Given the description of an element on the screen output the (x, y) to click on. 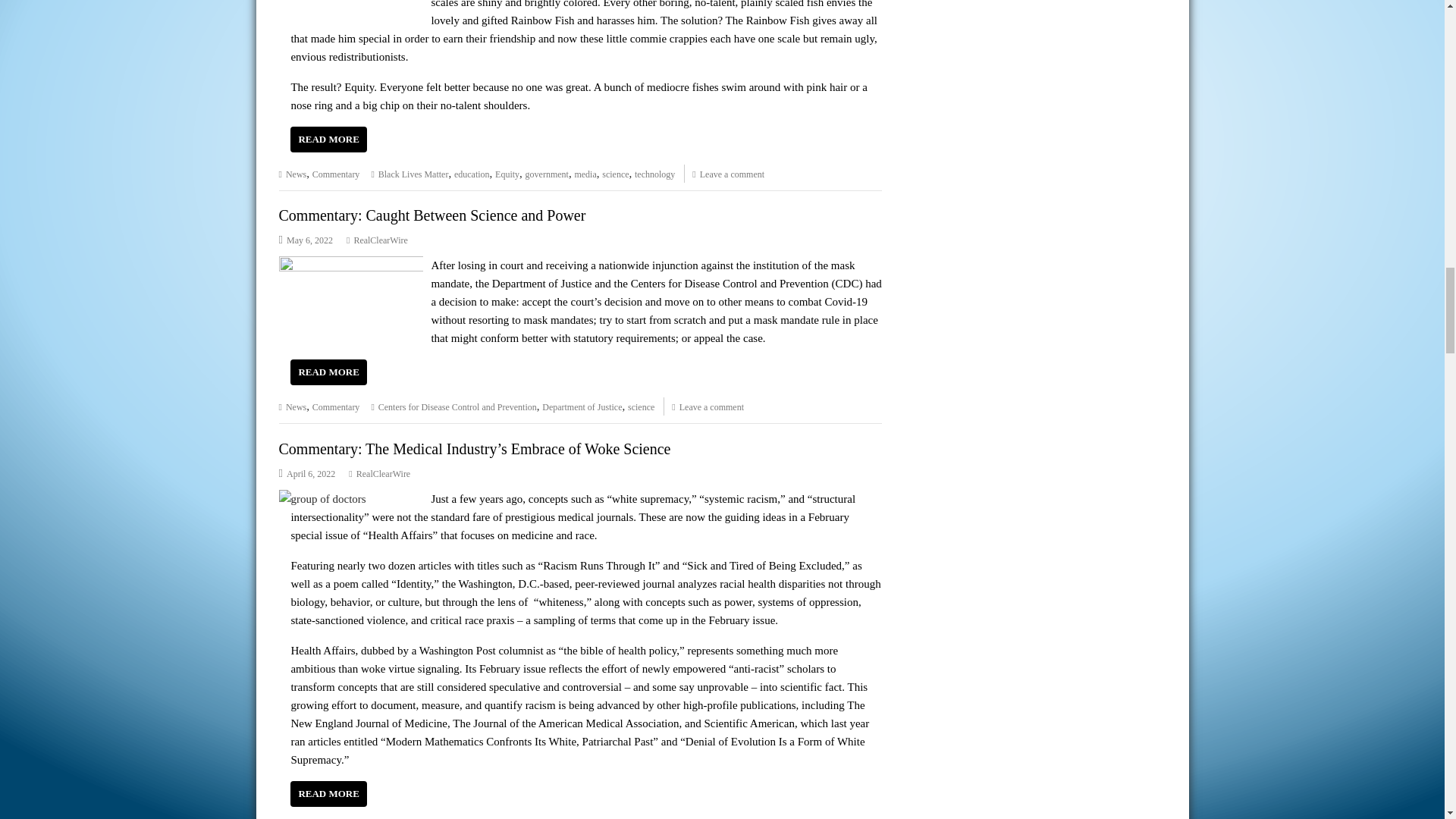
Commentary: Caught Between Science and Power (351, 265)
